Given the description of an element on the screen output the (x, y) to click on. 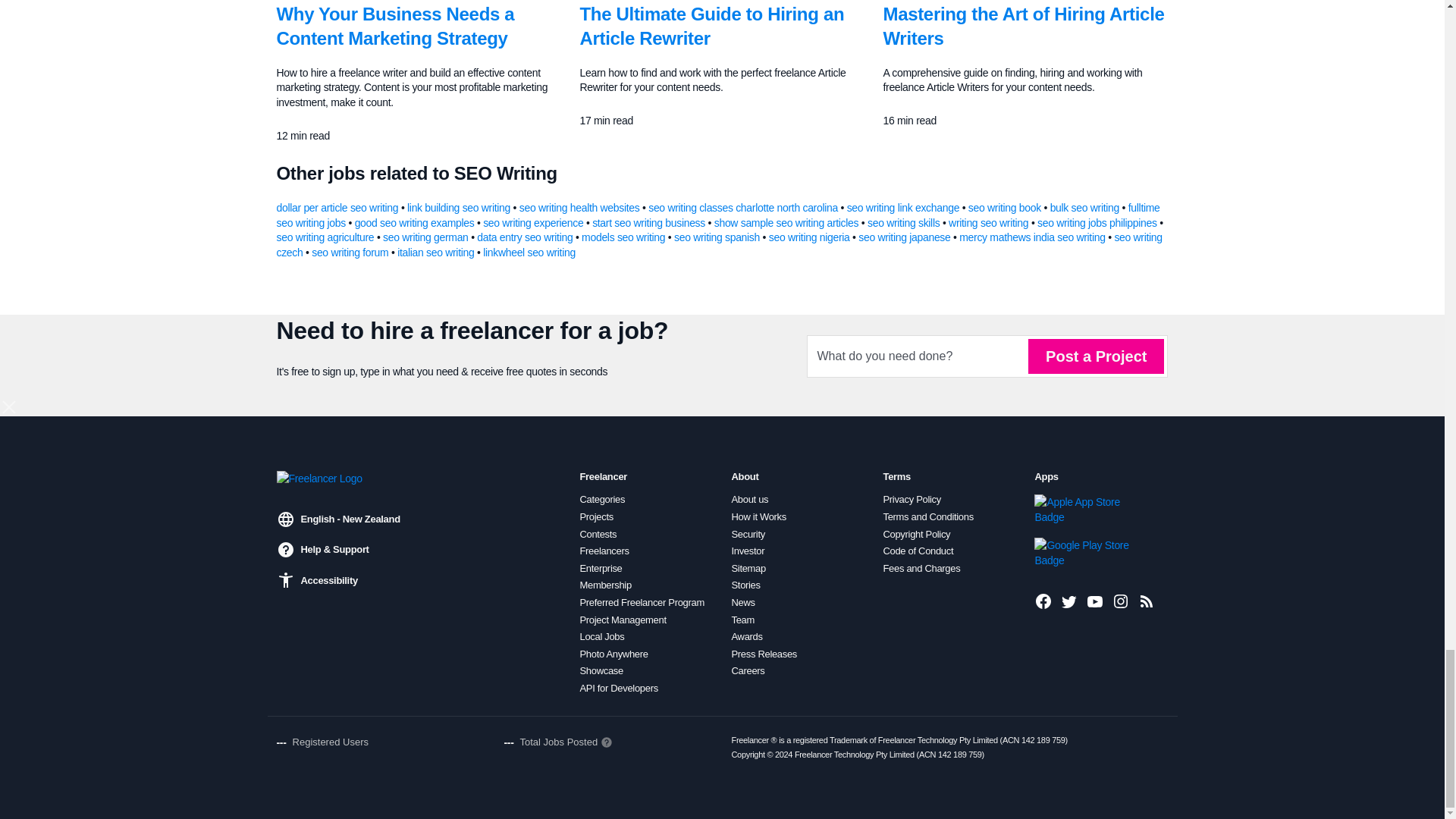
Freelancer on Facebook (1042, 601)
Latest Projects (1146, 601)
Download on the App Store (1085, 509)
Freelancer on Instagram (1120, 601)
Freelancer on Twitter (1068, 601)
Get it on Google Play (1085, 552)
Freelancer on Youtube (1094, 601)
